Given the description of an element on the screen output the (x, y) to click on. 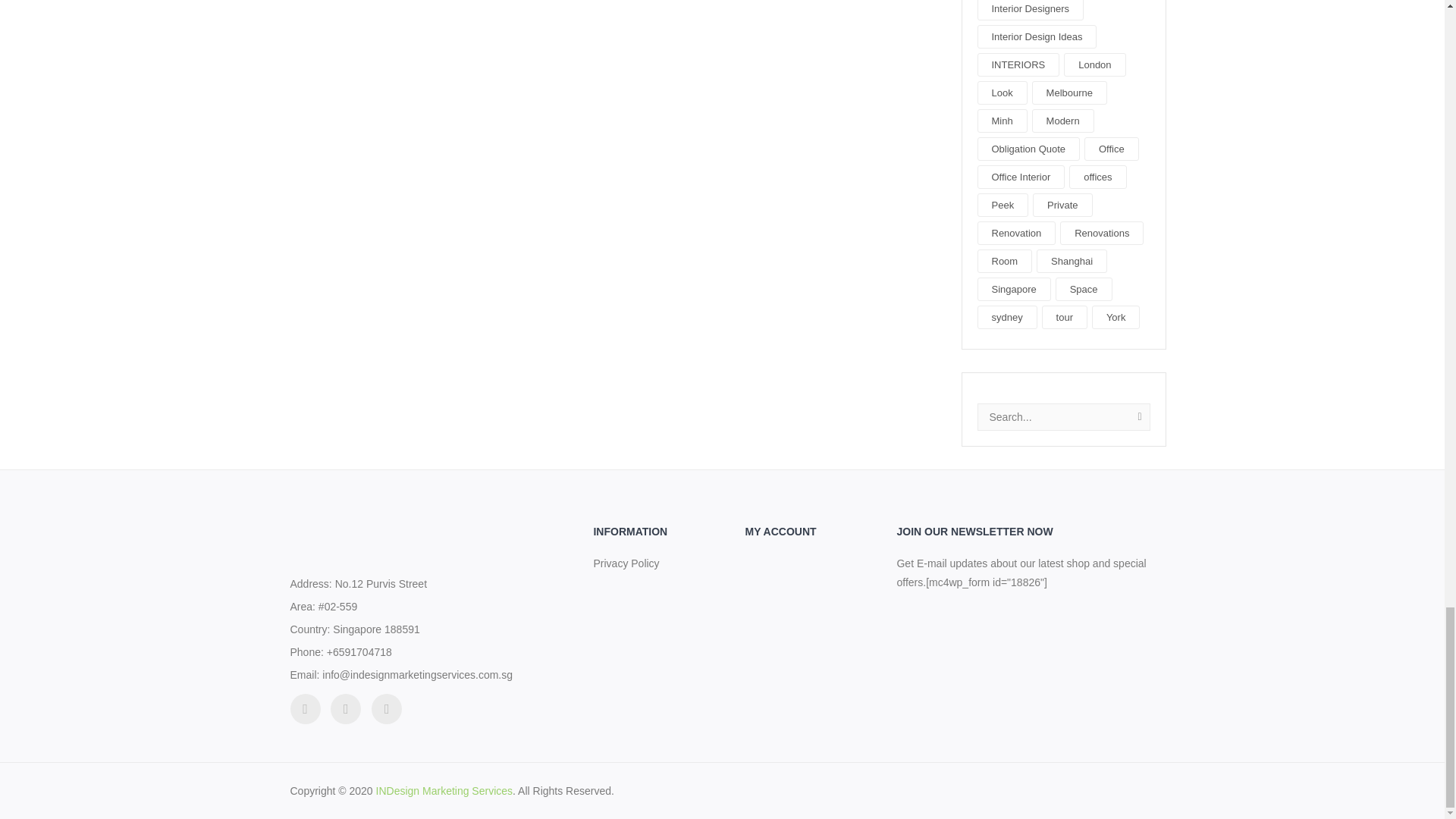
facebook (345, 708)
googleplus (386, 708)
twitter (304, 708)
Search... (1064, 416)
